Given the description of an element on the screen output the (x, y) to click on. 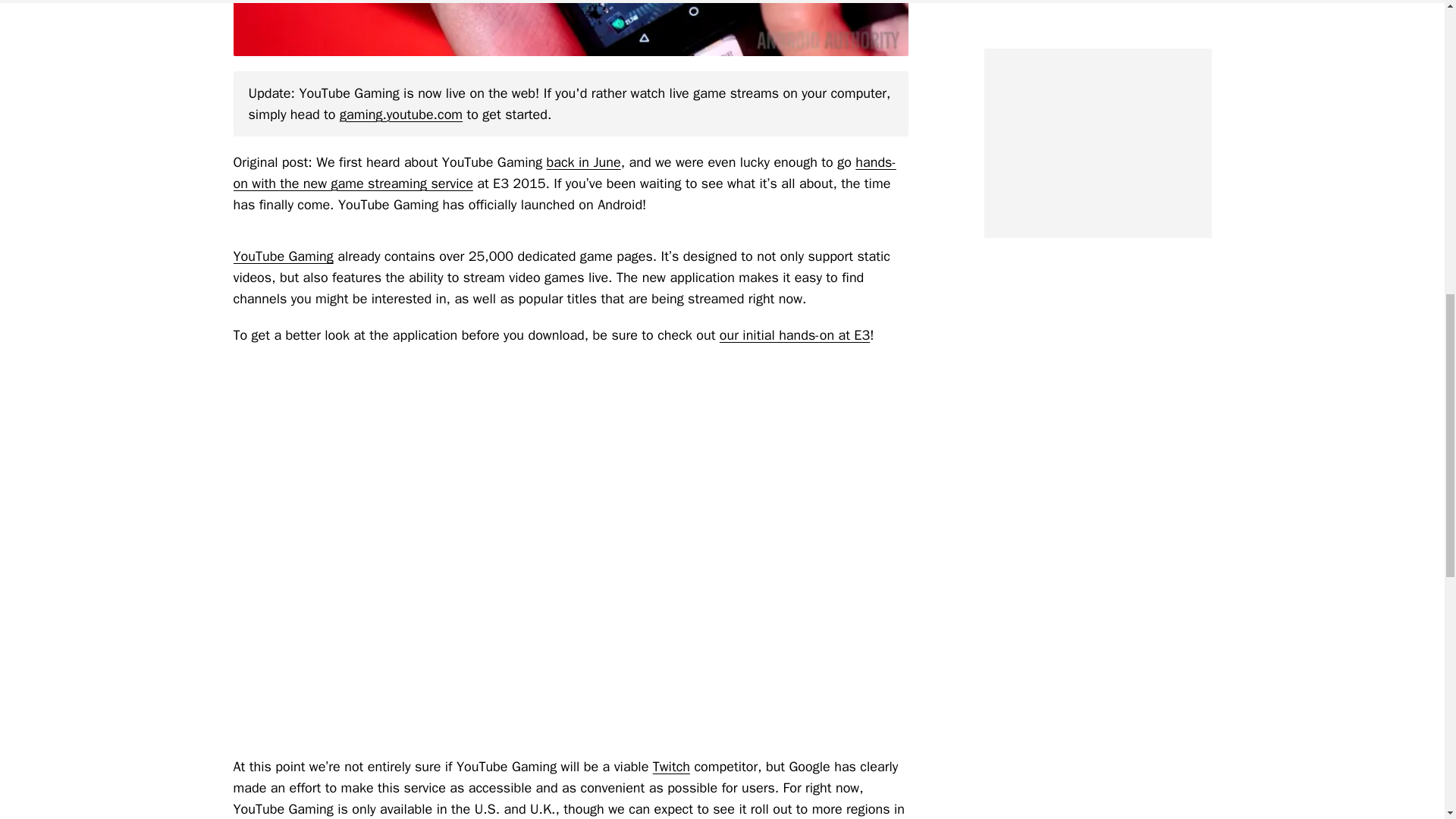
gaming.youtube.com (401, 114)
hands-on with the new game streaming service (564, 172)
YouTube Gaming (282, 256)
our initial hands-on at E3 (794, 334)
YouTube Gaming AA (570, 28)
Twitch (671, 766)
back in June (584, 161)
